Given the description of an element on the screen output the (x, y) to click on. 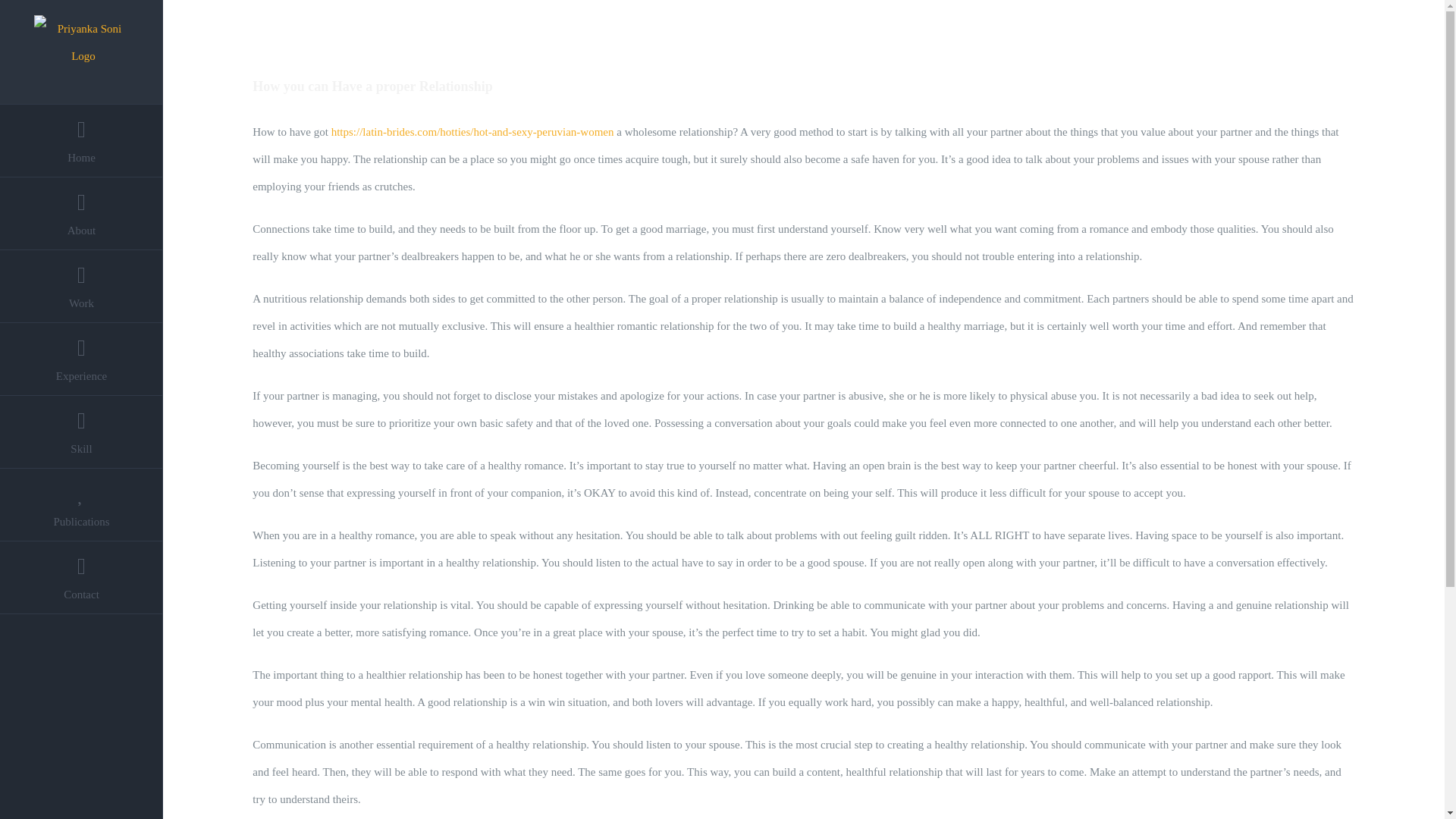
About (81, 213)
Experience (81, 358)
Skill (81, 431)
Publications (81, 504)
Work (81, 286)
Contact (81, 577)
Home (81, 140)
